Given the description of an element on the screen output the (x, y) to click on. 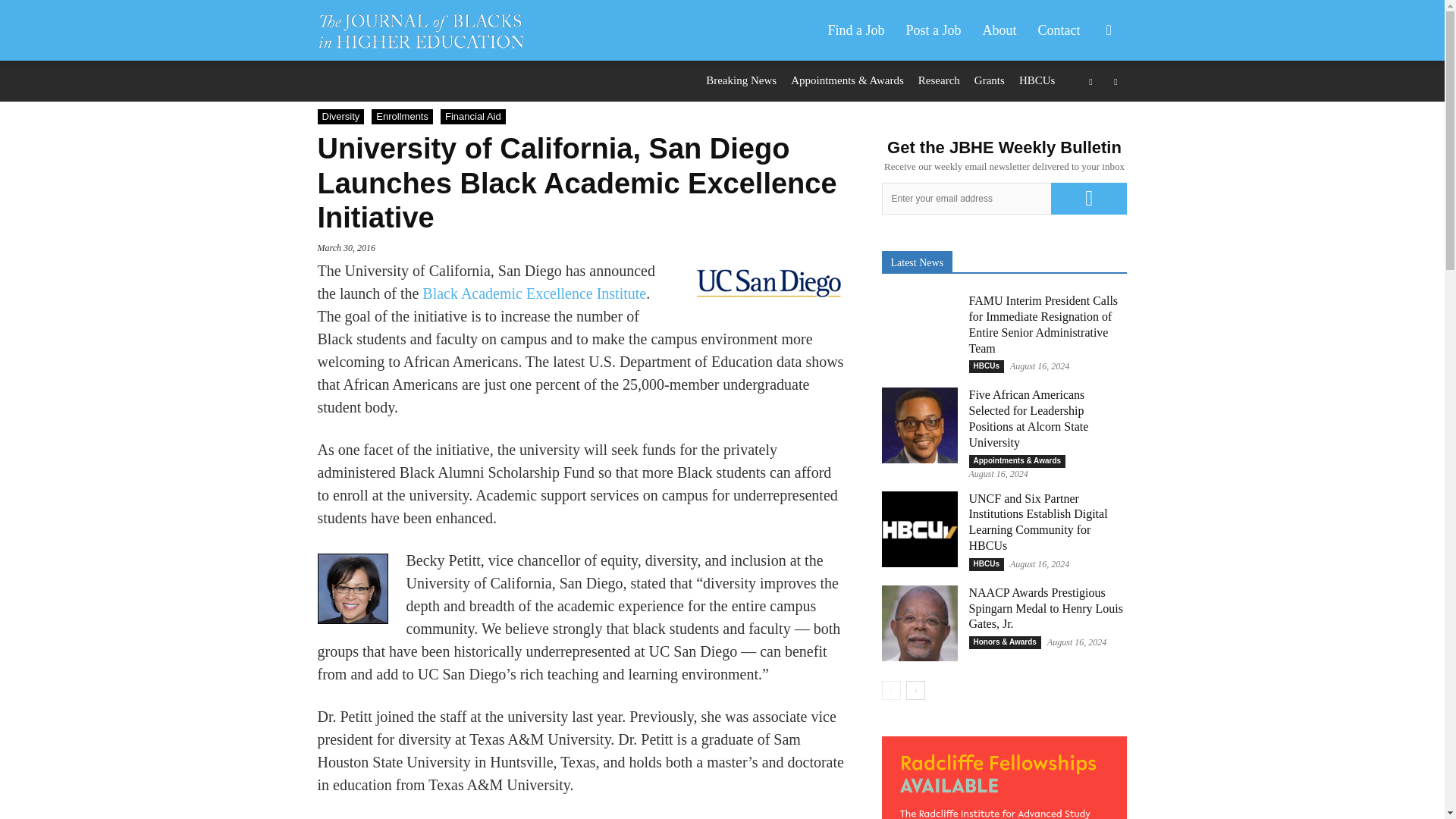
Find a Job (855, 30)
About (999, 30)
Search (1085, 102)
Grants (989, 80)
Diversity (340, 116)
Contact (1058, 30)
The Journal of Blacks in Higher Education (428, 30)
HBCUs (1037, 80)
The Journal of Blacks in Higher Education (419, 30)
Black Academic Excellence Institute (534, 293)
